Given the description of an element on the screen output the (x, y) to click on. 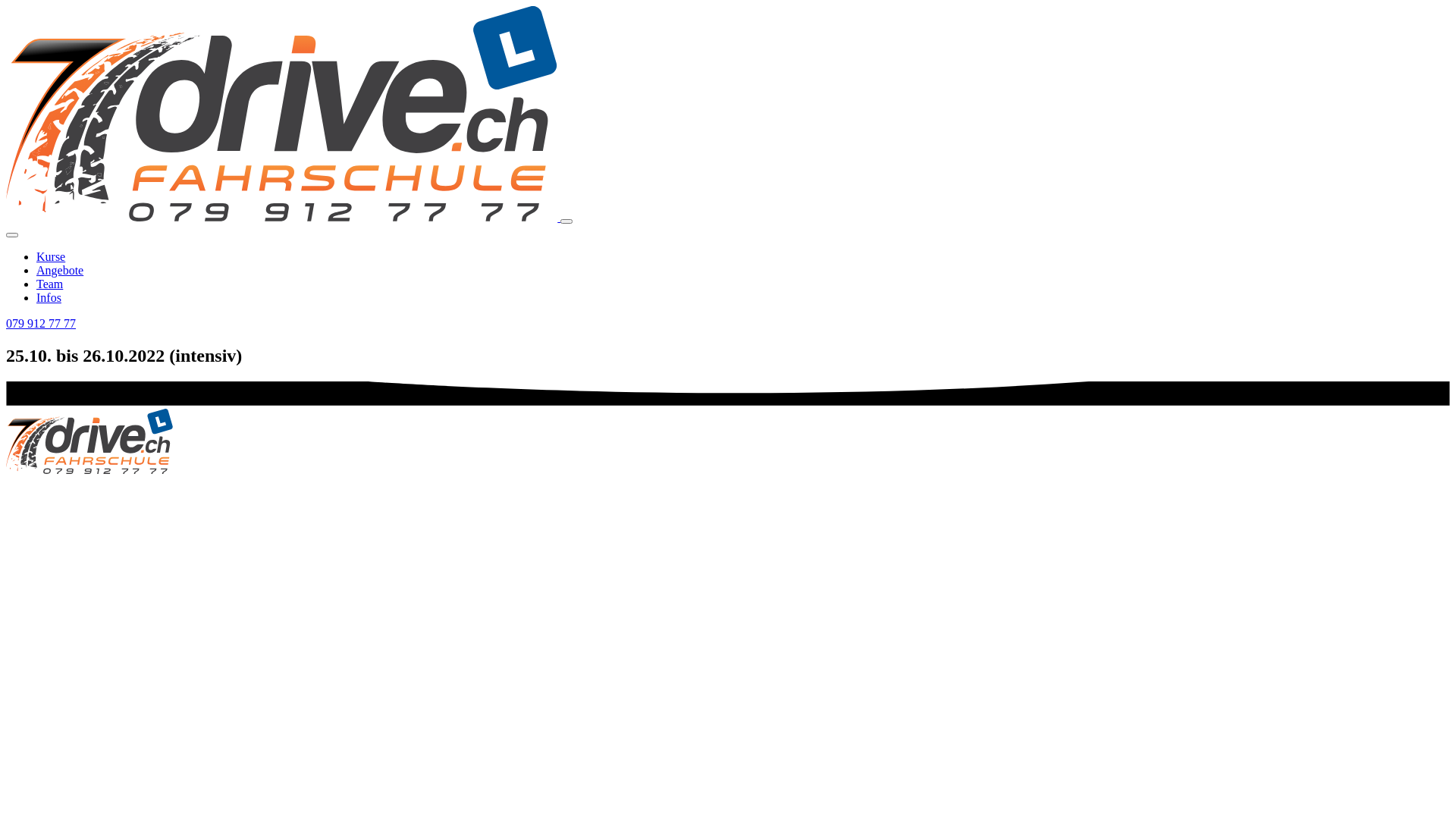
Impressum Element type: text (727, 508)
Infos Element type: text (48, 297)
AGB Element type: text (727, 495)
Kurse Element type: text (50, 256)
Team Element type: text (49, 283)
Angebote Element type: text (59, 269)
079 912 77 77 Element type: text (40, 322)
